Given the description of an element on the screen output the (x, y) to click on. 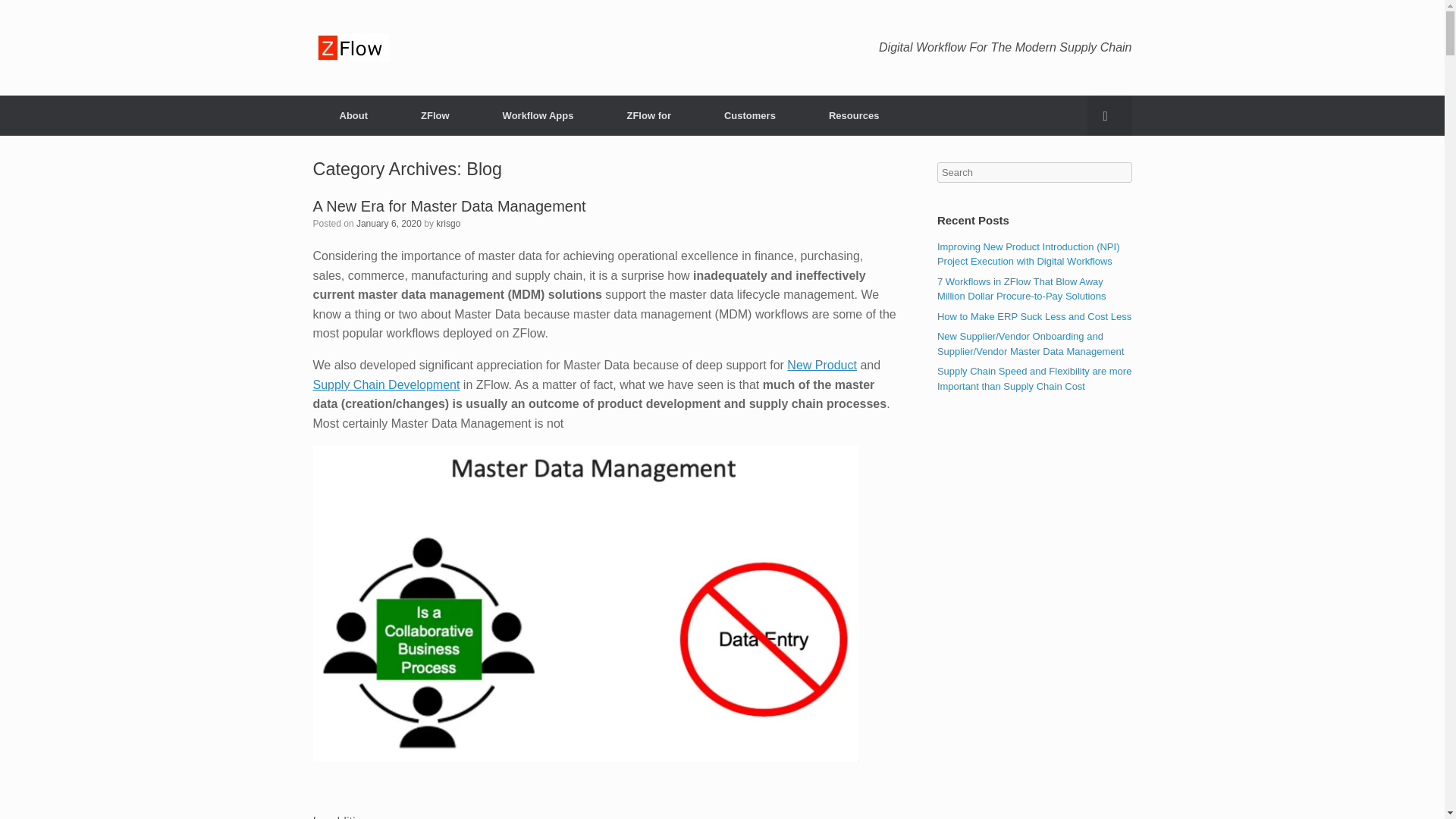
About (353, 115)
View all posts by krisgo (447, 223)
4:22 am (389, 223)
Workflow Apps (537, 115)
ZFlow (435, 115)
ZFlow (350, 47)
Permalink to A New Era for Master Data Management (449, 205)
